Given the description of an element on the screen output the (x, y) to click on. 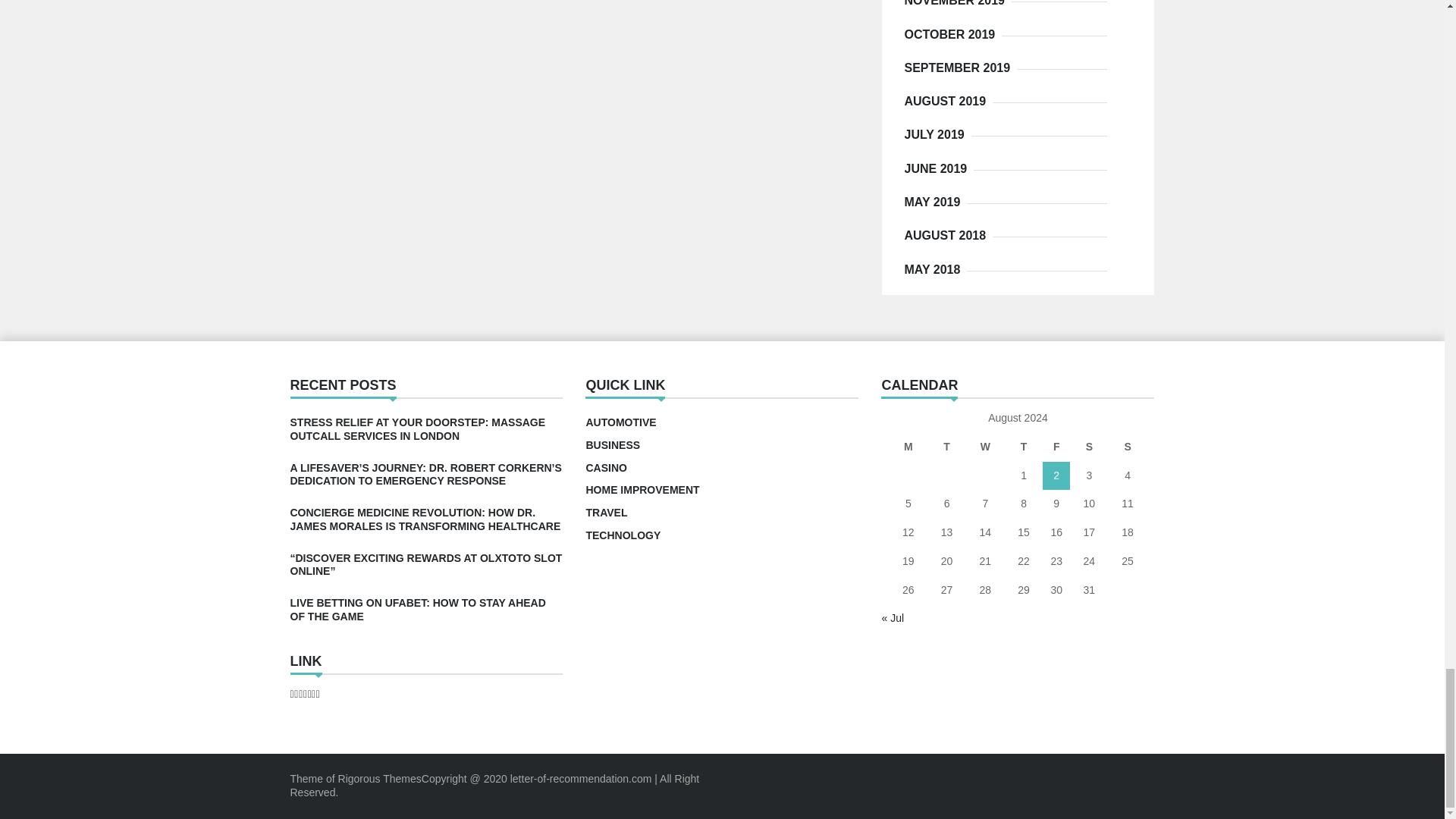
Sunday (1127, 447)
Saturday (1089, 447)
Friday (1056, 447)
Tuesday (946, 447)
Monday (907, 447)
Wednesday (985, 447)
Thursday (1023, 447)
